Given the description of an element on the screen output the (x, y) to click on. 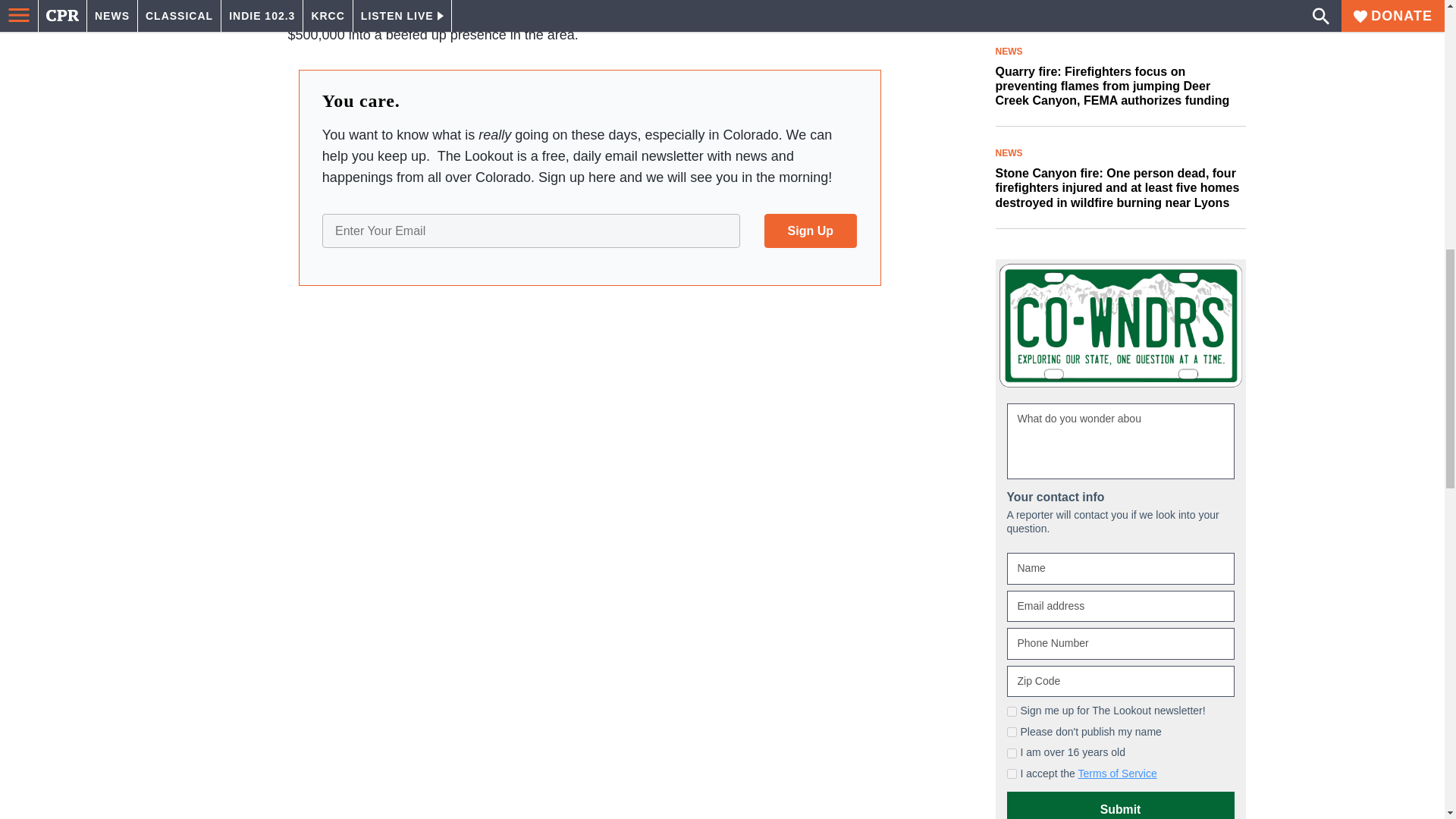
on (1011, 711)
newsArticleSignup (589, 230)
on (1011, 773)
on (1011, 753)
on (1011, 732)
